Given the description of an element on the screen output the (x, y) to click on. 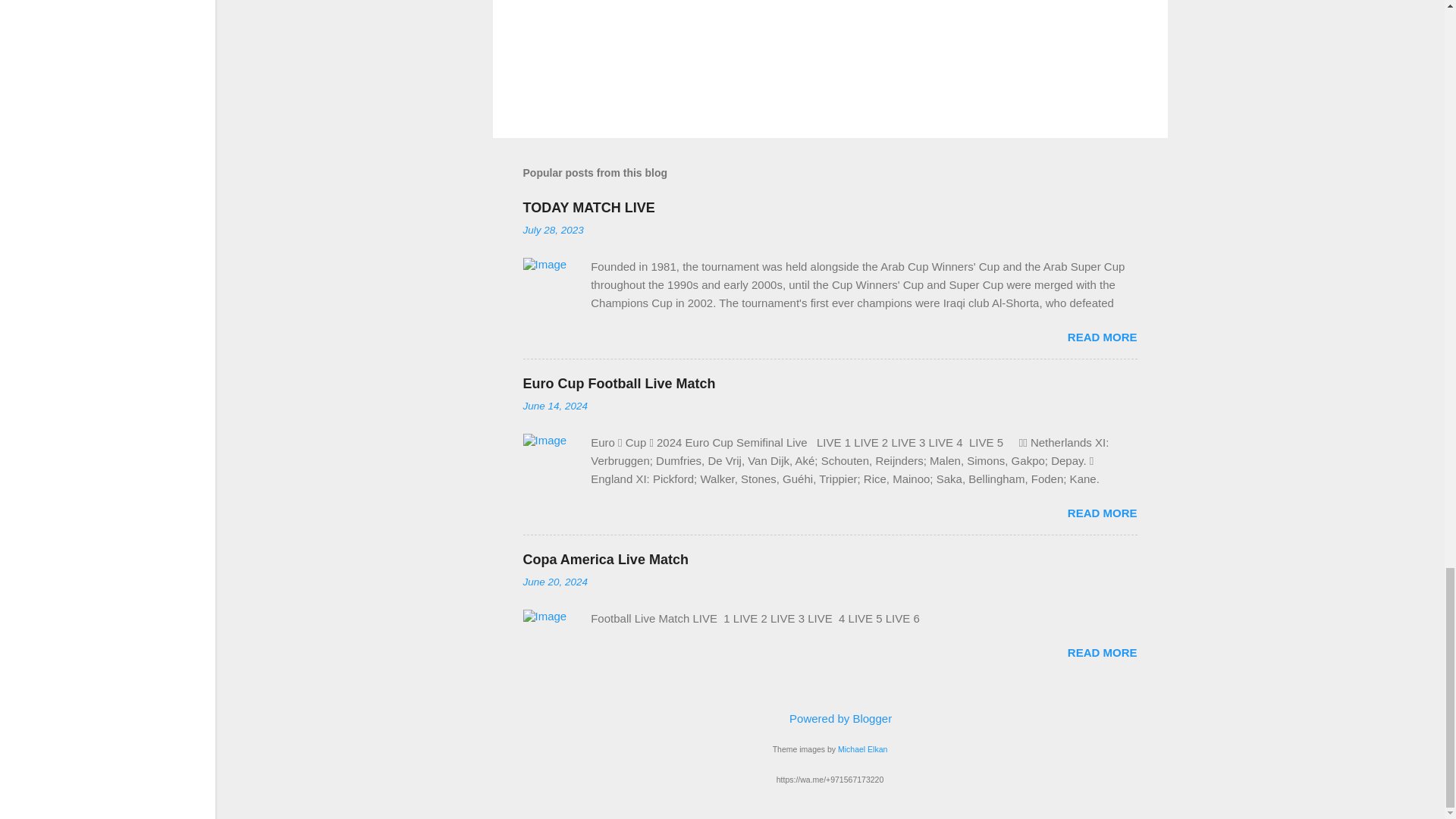
READ MORE (1102, 336)
Copa America Live Match (605, 559)
READ MORE (1102, 652)
TODAY MATCH LIVE (588, 207)
June 20, 2024 (555, 582)
Euro Cup Football Live Match (619, 383)
Powered by Blogger (829, 717)
July 28, 2023 (552, 229)
Michael Elkan (862, 748)
permanent link (552, 229)
READ MORE (1102, 512)
June 14, 2024 (555, 405)
